Given the description of an element on the screen output the (x, y) to click on. 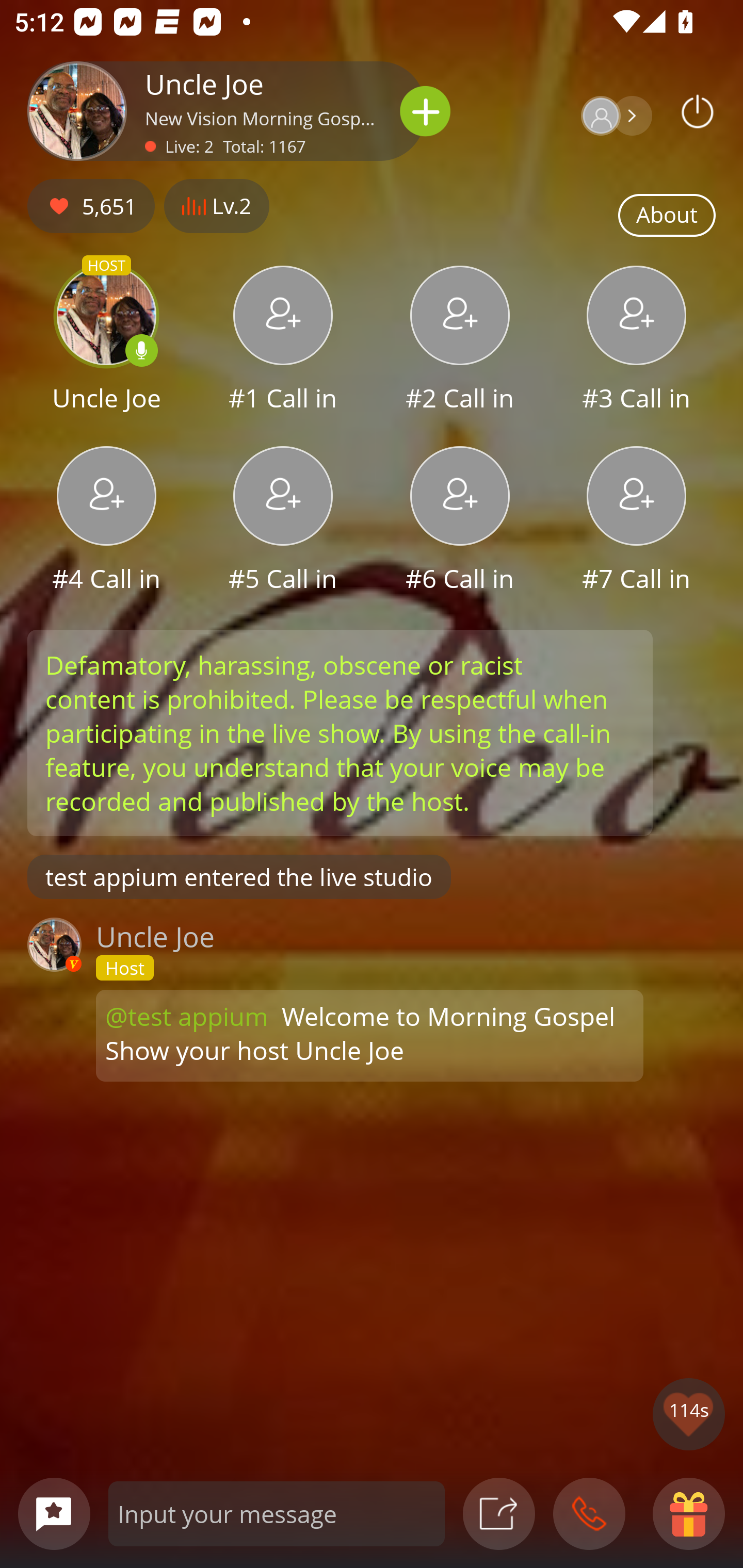
Podbean (697, 111)
About (666, 215)
HOST Uncle Joe (105, 340)
#1 Call in (282, 340)
#2 Call in (459, 340)
#3 Call in (636, 340)
#4 Call in (105, 521)
#5 Call in (282, 521)
#6 Call in (459, 521)
#7 Call in (636, 521)
Input your message (276, 1513)
